Given the description of an element on the screen output the (x, y) to click on. 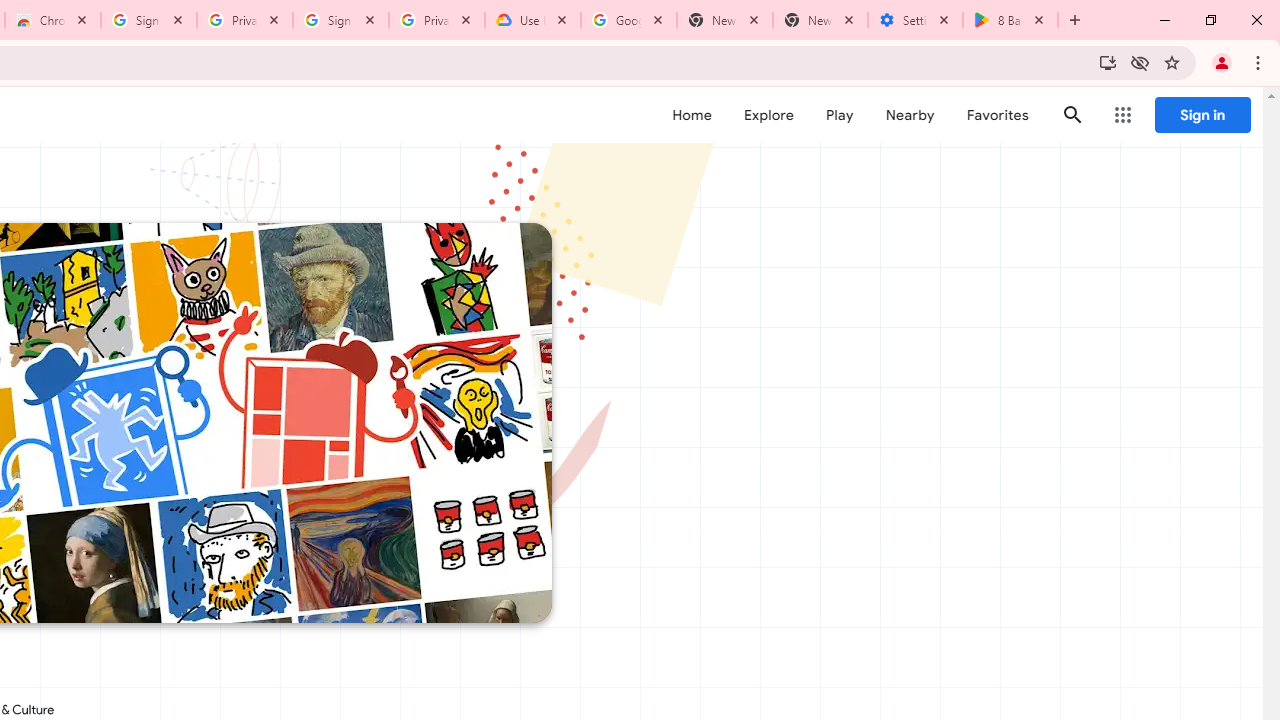
Explore (768, 115)
Favorites (996, 115)
Home (691, 115)
Settings - System (914, 20)
Install Google Arts & Culture (1107, 62)
New Tab (820, 20)
